Given the description of an element on the screen output the (x, y) to click on. 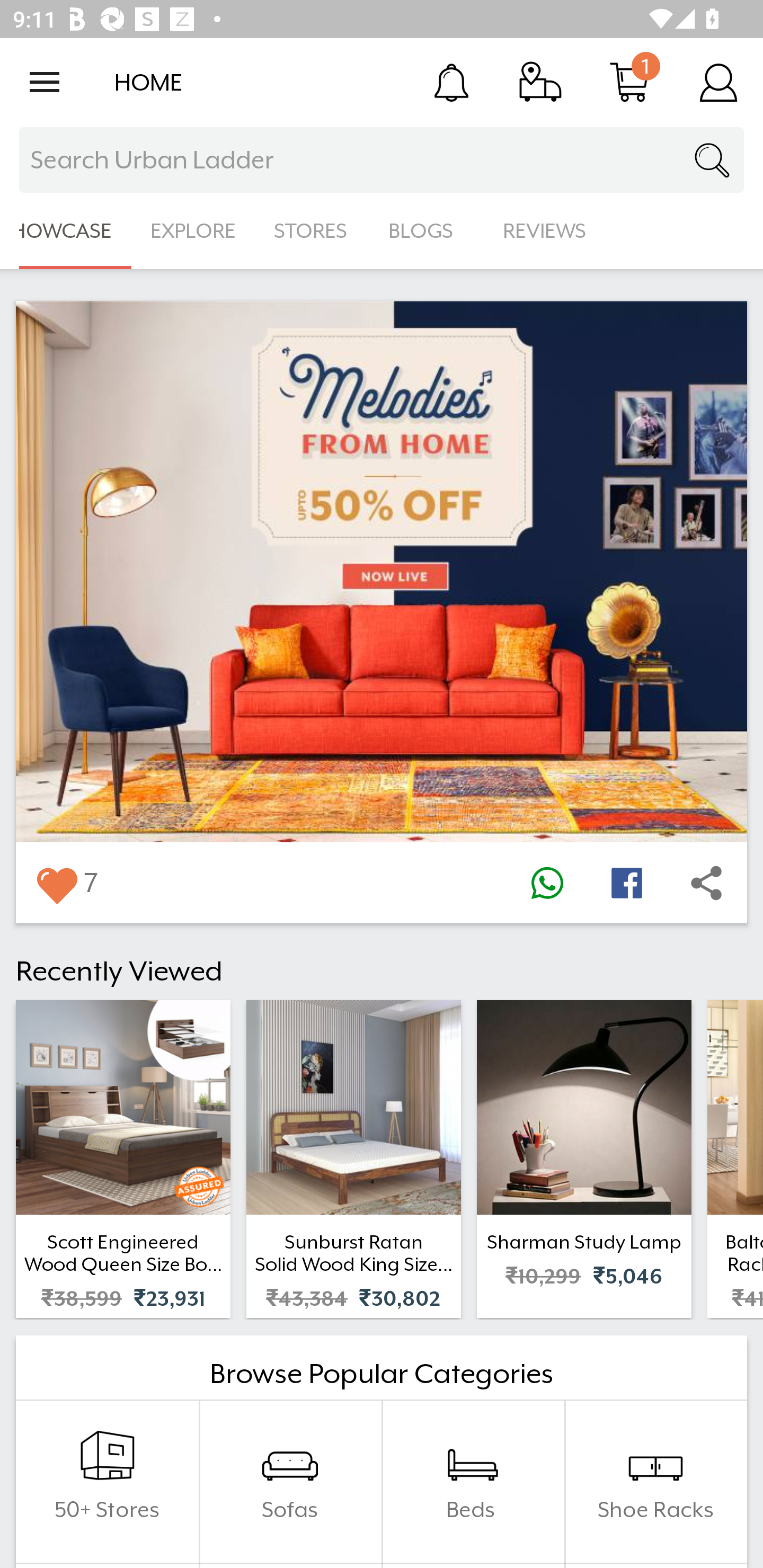
Open navigation drawer (44, 82)
Notification (450, 81)
Track Order (540, 81)
Cart (629, 81)
Account Details (718, 81)
Search Urban Ladder  (381, 159)
SHOWCASE (65, 230)
EXPLORE (192, 230)
STORES (311, 230)
BLOGS (426, 230)
REVIEWS (544, 230)
 (55, 882)
 (547, 882)
 (626, 882)
 (706, 882)
Sharman Study Lamp ₹10,299 ₹5,046 (583, 1159)
50+ Stores (106, 1481)
Sofas (289, 1481)
Beds  (473, 1481)
Shoe Racks (655, 1481)
